Given the description of an element on the screen output the (x, y) to click on. 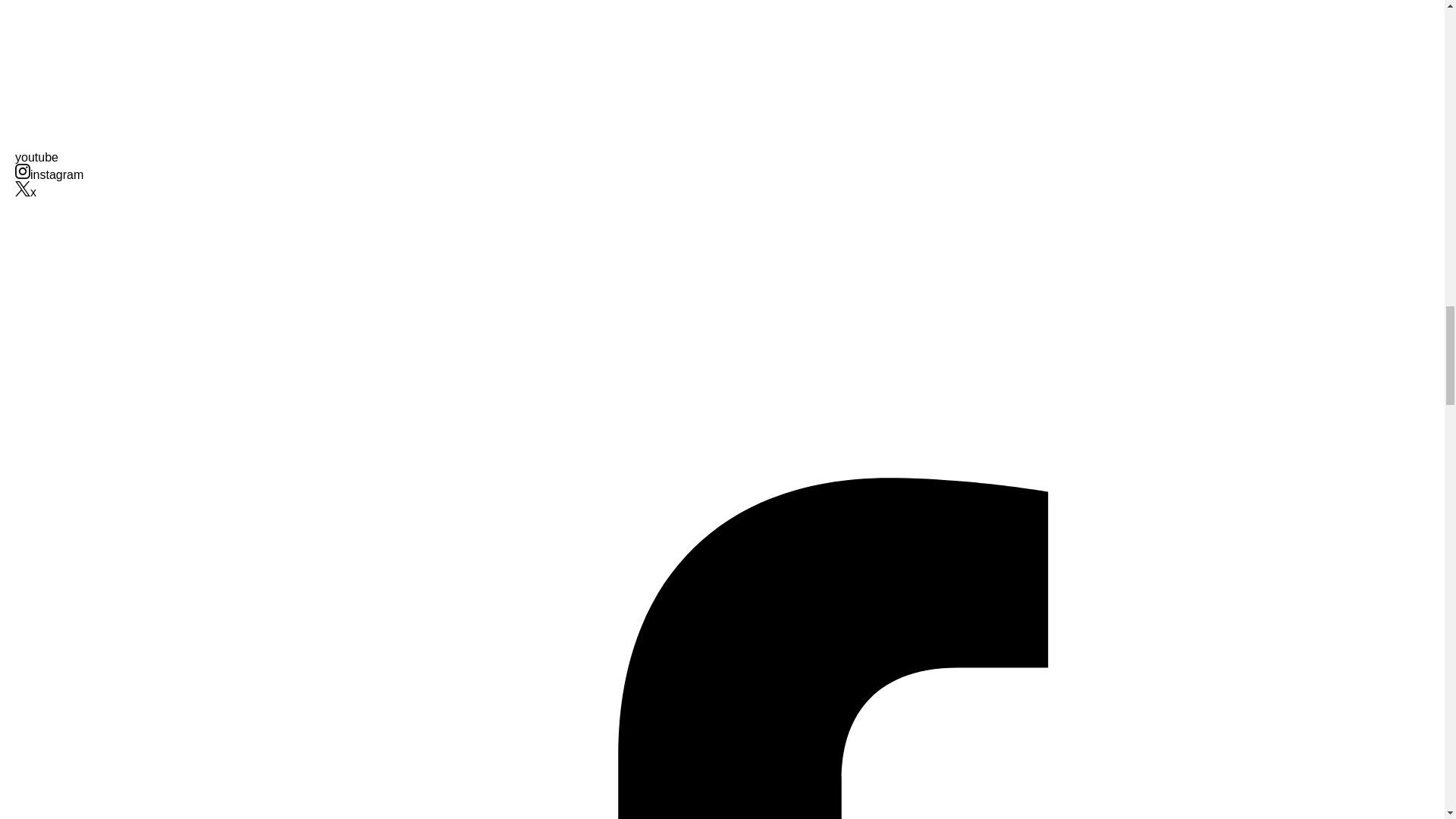
Twitter Navigation Iconx (25, 192)
Instagram Navigation Icon (22, 171)
Twitter Navigation Icon (22, 188)
Instagram Navigation Iconinstagram (48, 174)
